Given the description of an element on the screen output the (x, y) to click on. 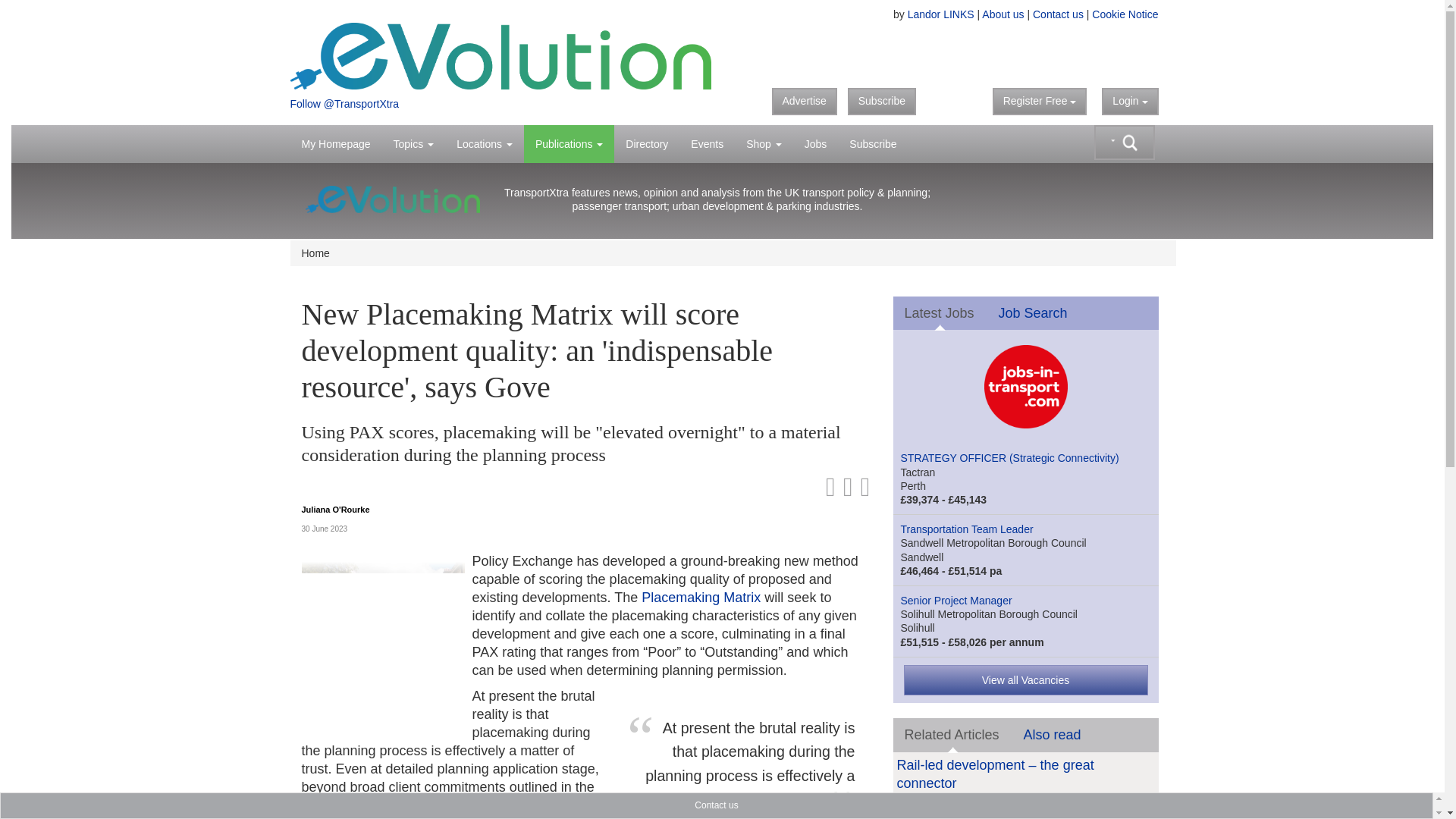
My Homepage (335, 143)
evolution (499, 54)
Contact us (1057, 14)
Advertise (804, 101)
Locations (484, 143)
Cookie Notice (1124, 14)
About us (1002, 14)
Landor LINKS (940, 14)
Register Free (1039, 101)
Login (1129, 101)
